Given the description of an element on the screen output the (x, y) to click on. 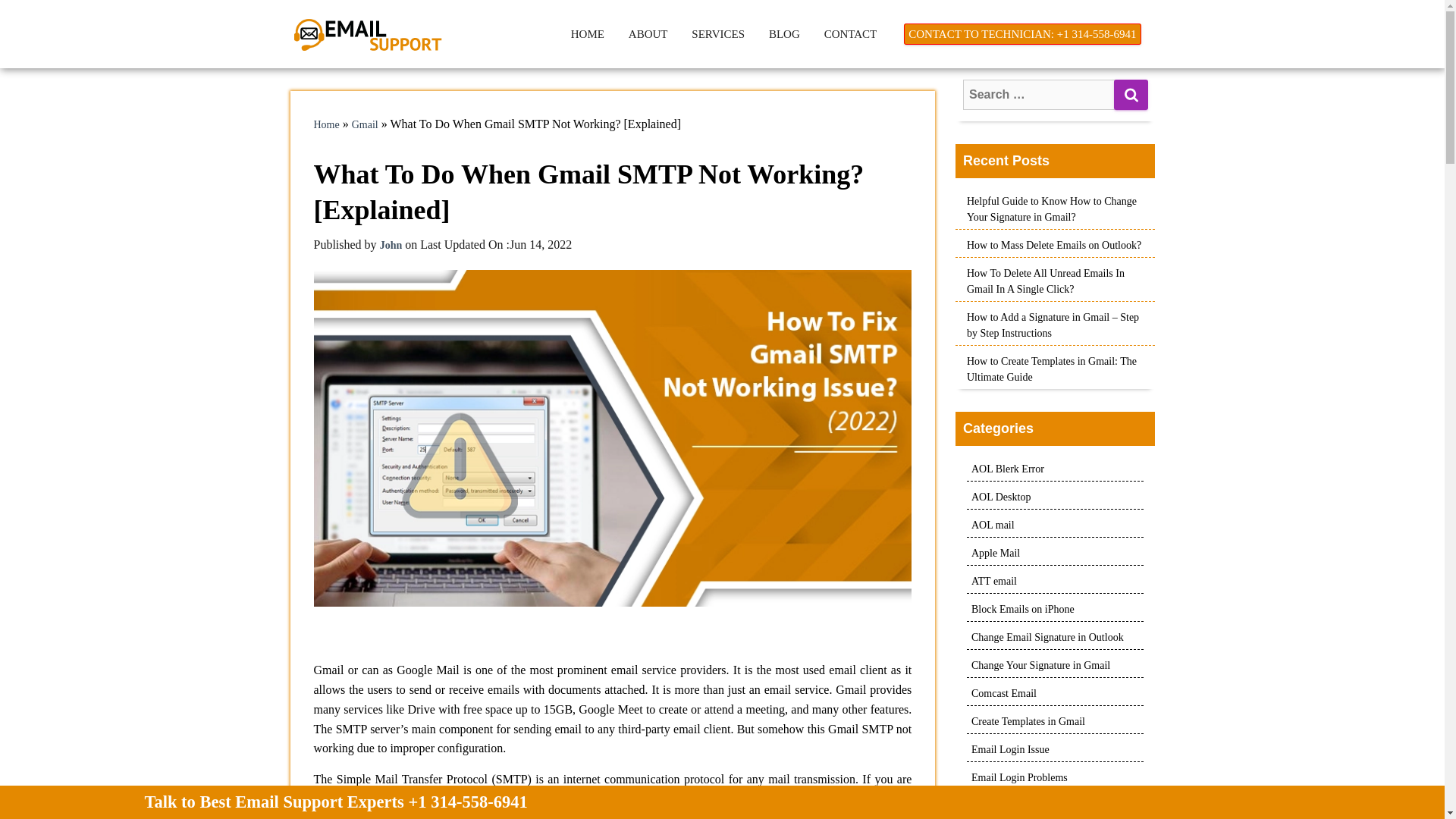
Home (326, 124)
Search (1130, 94)
CONTACT (850, 33)
SERVICES (718, 33)
ABOUT (647, 33)
Gmail (365, 124)
Search (1130, 94)
John (391, 244)
